Given the description of an element on the screen output the (x, y) to click on. 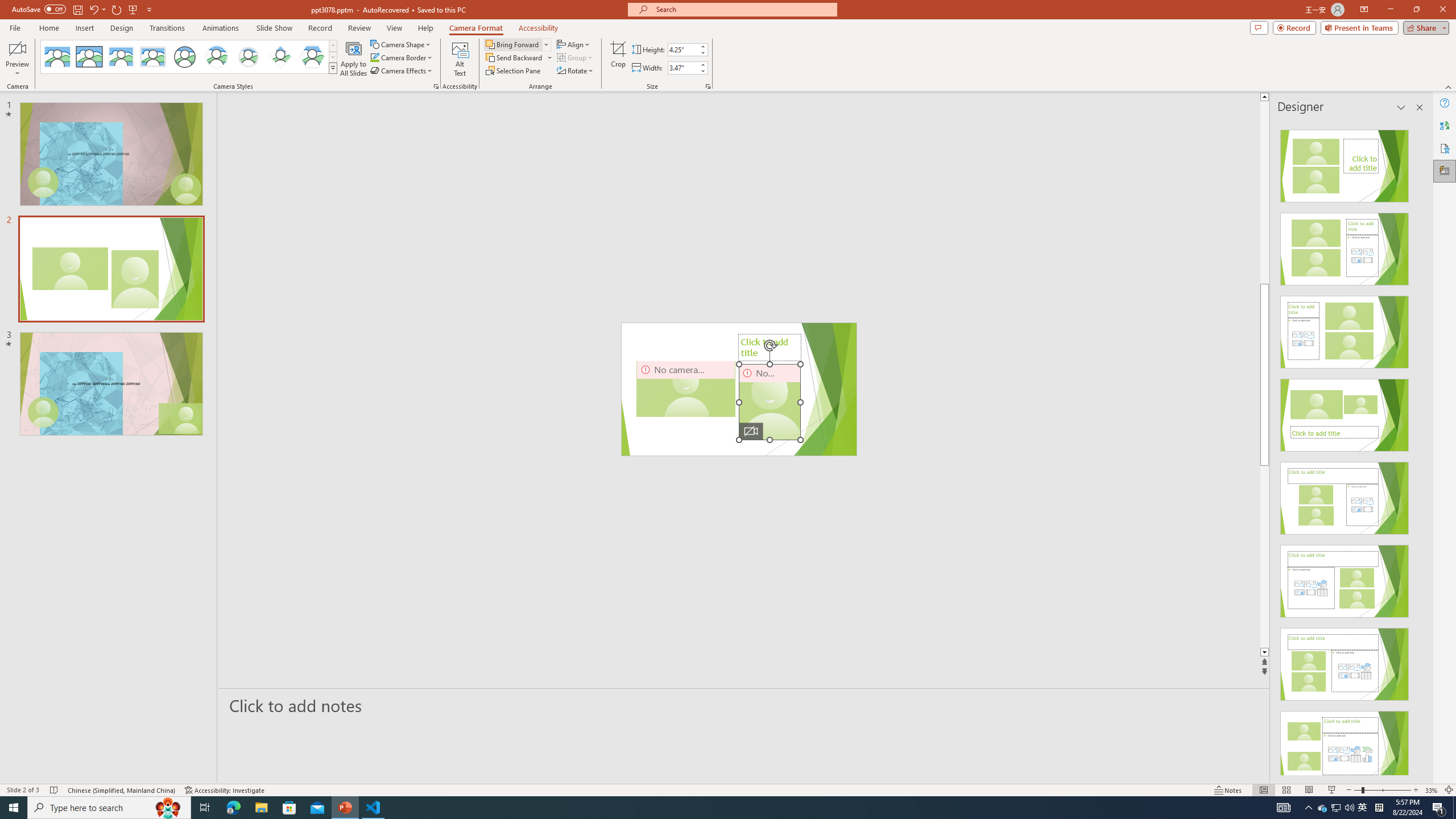
Camera 5, No camera detected. (770, 401)
Zoom 33% (1431, 790)
Simple Frame Rectangle (88, 56)
Simple Frame Circle (184, 56)
